Given the description of an element on the screen output the (x, y) to click on. 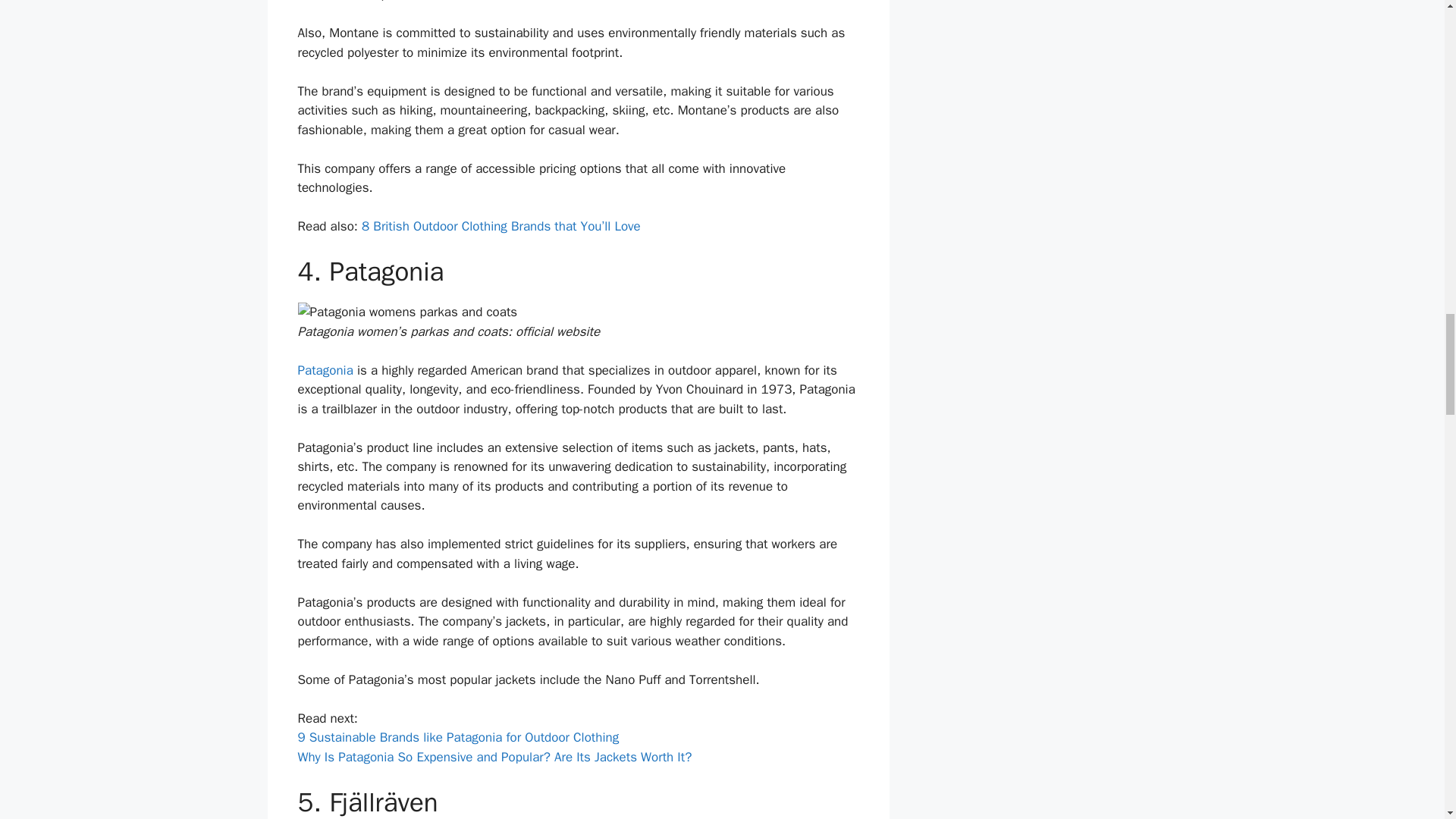
9 Sustainable Brands like Patagonia for Outdoor Clothing (457, 737)
Patagonia (324, 370)
